Given the description of an element on the screen output the (x, y) to click on. 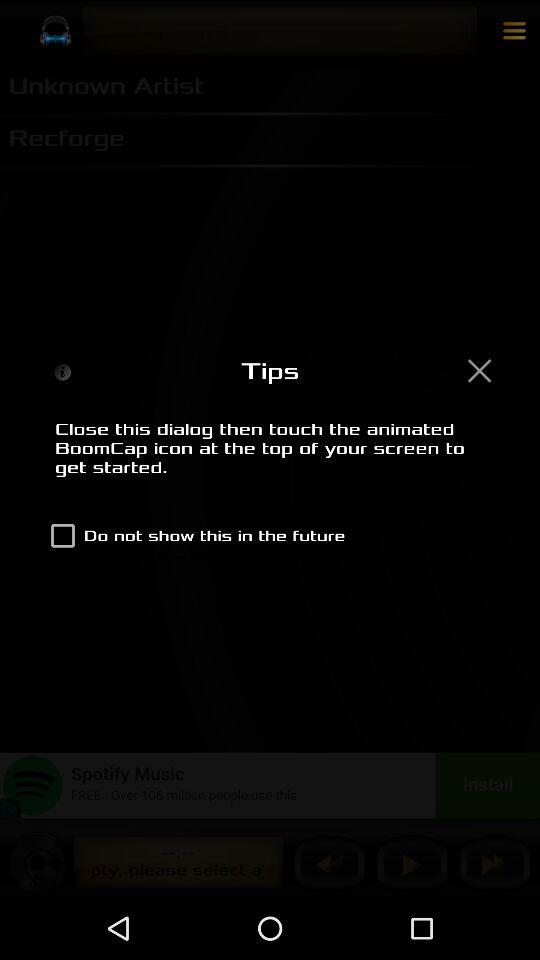
launch icon to the right of tips icon (479, 370)
